Given the description of an element on the screen output the (x, y) to click on. 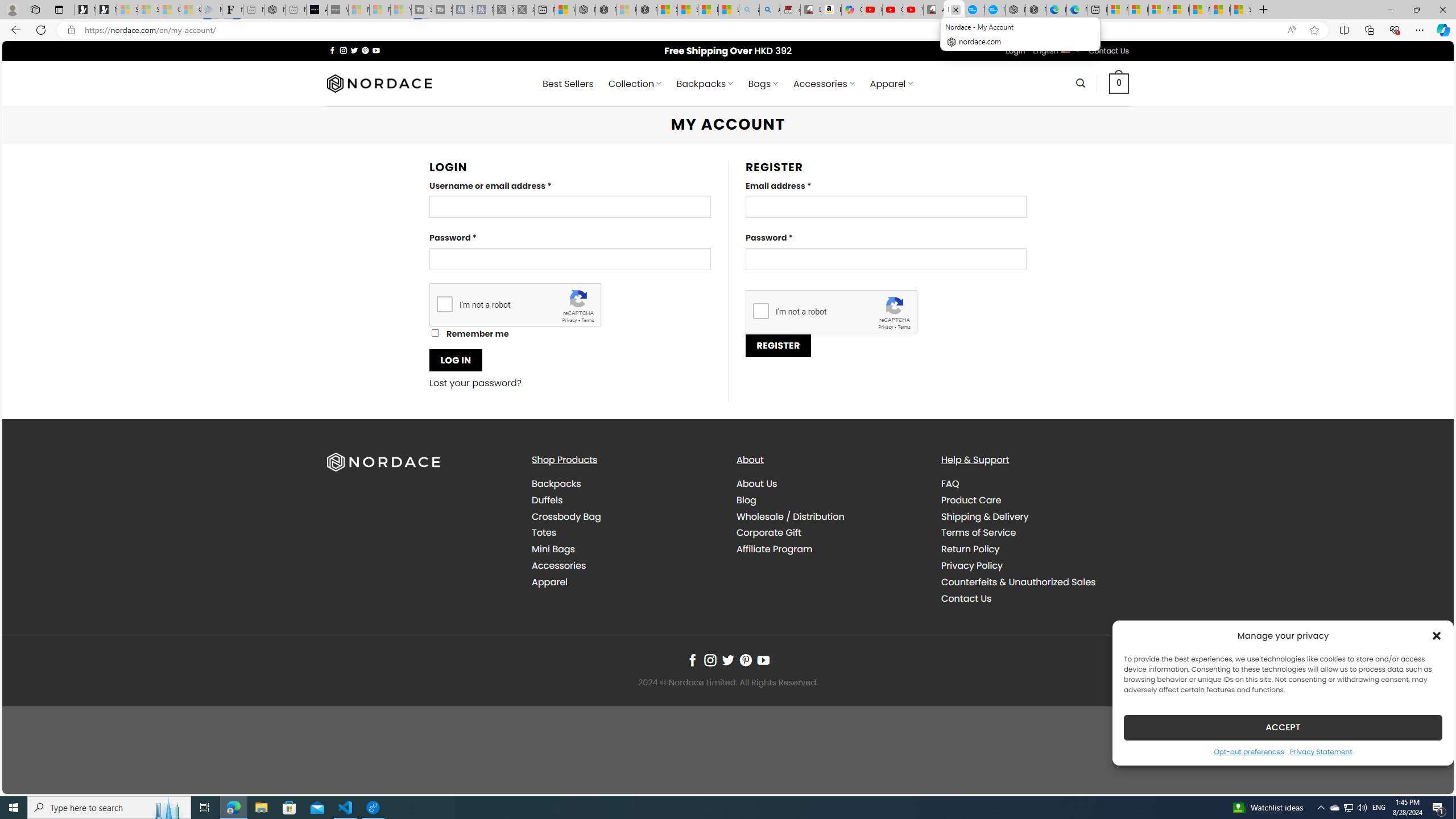
Apparel (549, 581)
Follow on YouTube (763, 659)
Nordace - Summer Adventures 2024 (606, 9)
Blog (746, 499)
Contact Us (1034, 598)
Nordace - Nordace Siena Is Not An Ordinary Backpack (646, 9)
